Given the description of an element on the screen output the (x, y) to click on. 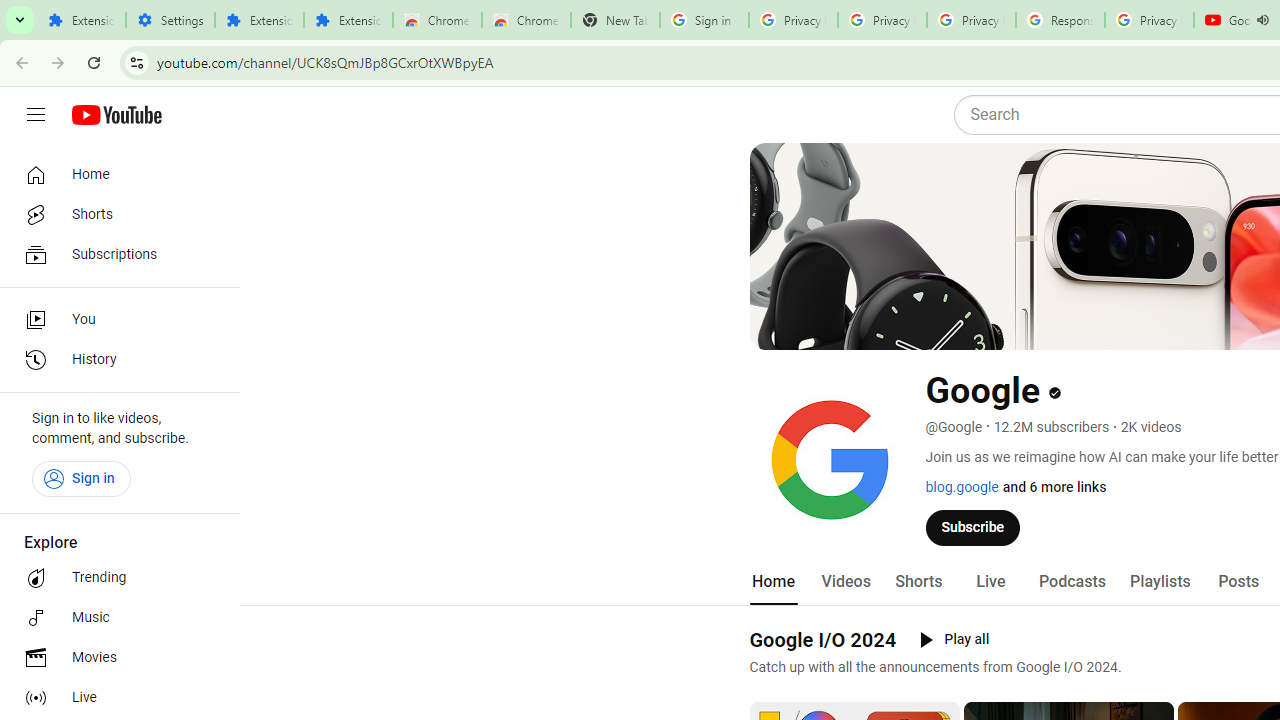
Movies (113, 657)
Settings (170, 20)
Live (990, 581)
Extensions (81, 20)
Guide (35, 115)
Playlists (1160, 581)
Subscriptions (113, 254)
